Given the description of an element on the screen output the (x, y) to click on. 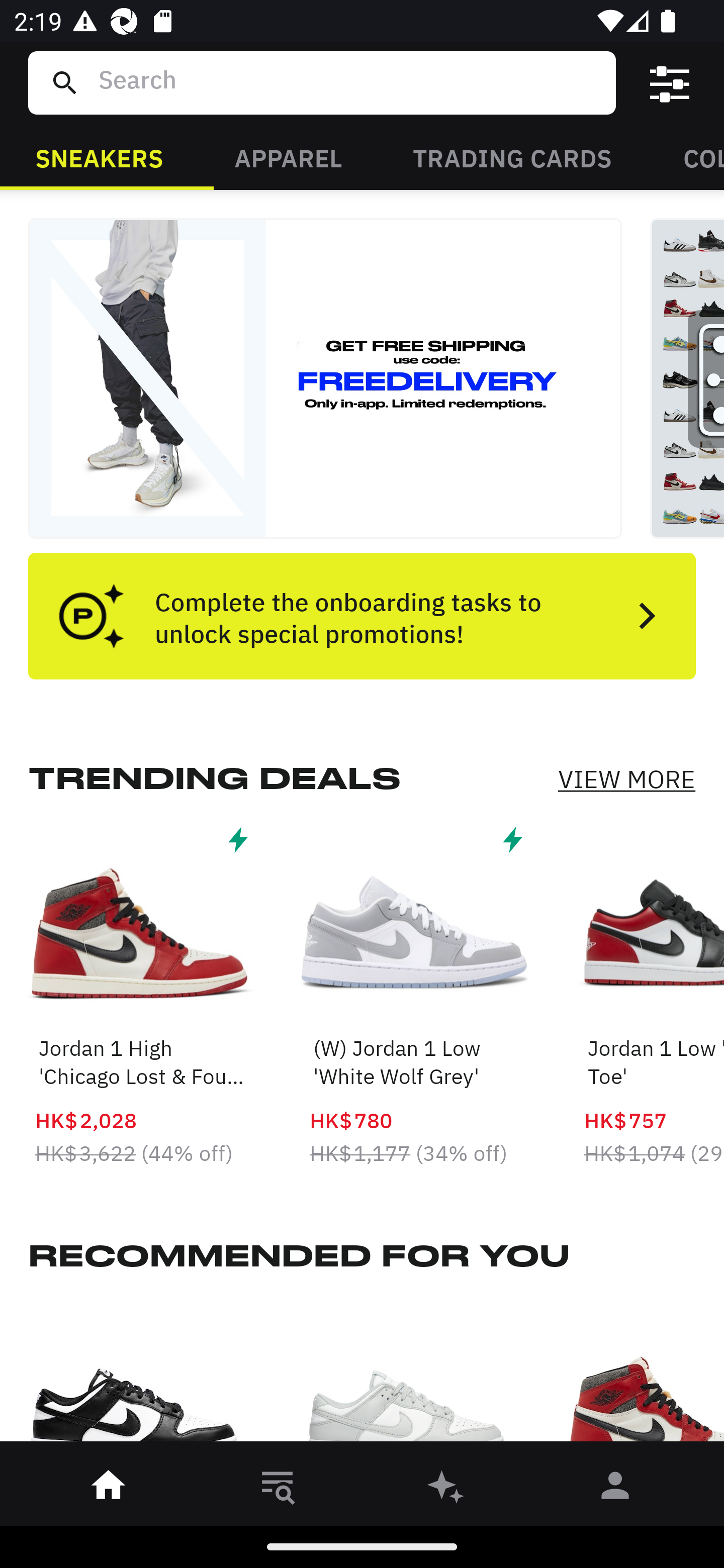
Search (349, 82)
 (669, 82)
SNEAKERS (99, 156)
APPAREL (287, 156)
TRADING CARDS (512, 156)
VIEW MORE (626, 779)
󰋜 (108, 1488)
󱎸 (277, 1488)
󰫢 (446, 1488)
󰀄 (615, 1488)
